Given the description of an element on the screen output the (x, y) to click on. 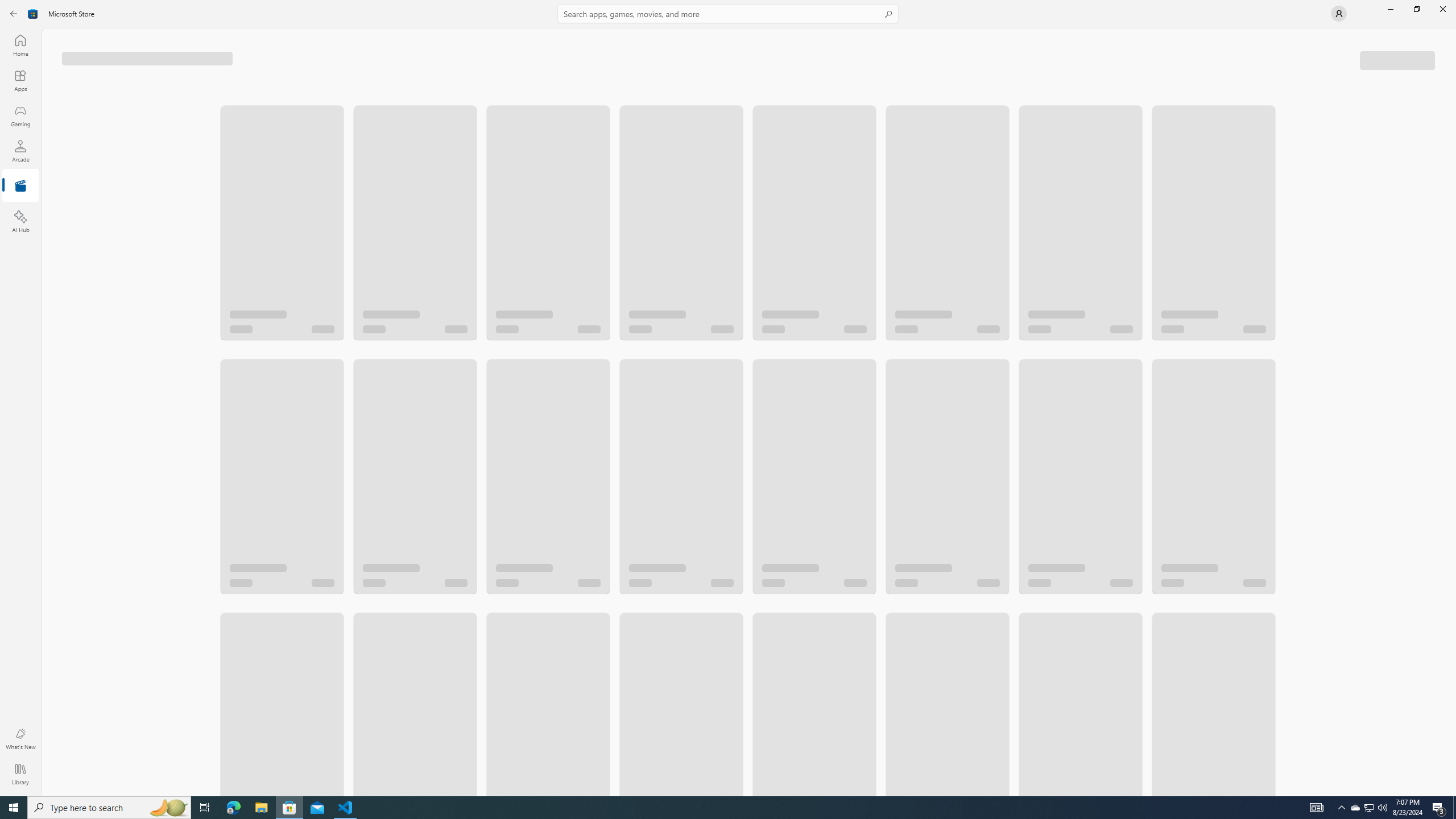
Search (727, 13)
Vertical Small Decrease (1452, 31)
Vertical Small Increase (1452, 792)
